Given the description of an element on the screen output the (x, y) to click on. 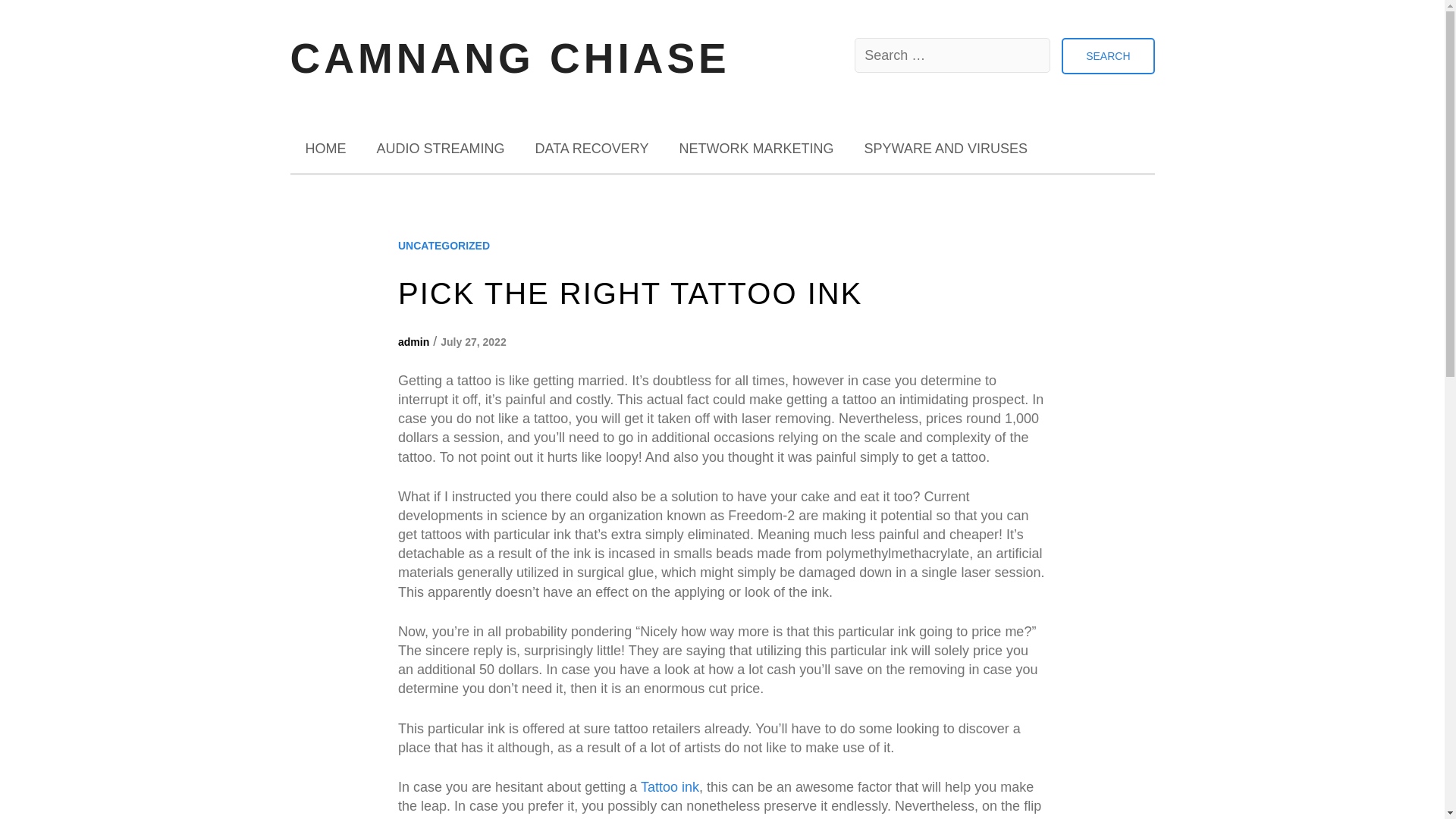
AUDIO STREAMING (440, 148)
admin (413, 341)
NETWORK MARKETING (755, 148)
Search (1107, 55)
SPYWARE AND VIRUSES (945, 148)
Search (1107, 55)
HOME (325, 148)
DATA RECOVERY (591, 148)
Search (1107, 55)
UNCATEGORIZED (443, 246)
Tattoo ink (669, 786)
CAMNANG CHIASE (509, 58)
